Given the description of an element on the screen output the (x, y) to click on. 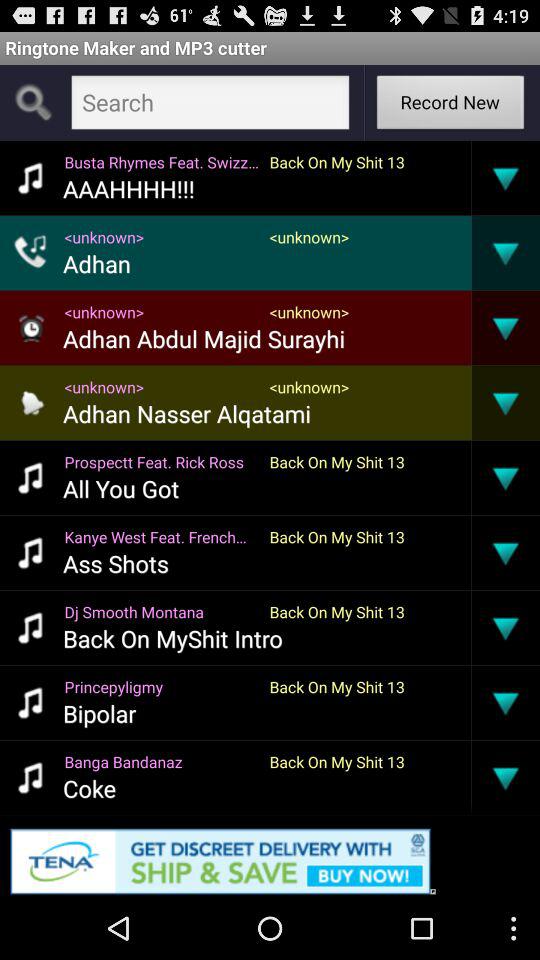
swipe until record new button (450, 104)
